Given the description of an element on the screen output the (x, y) to click on. 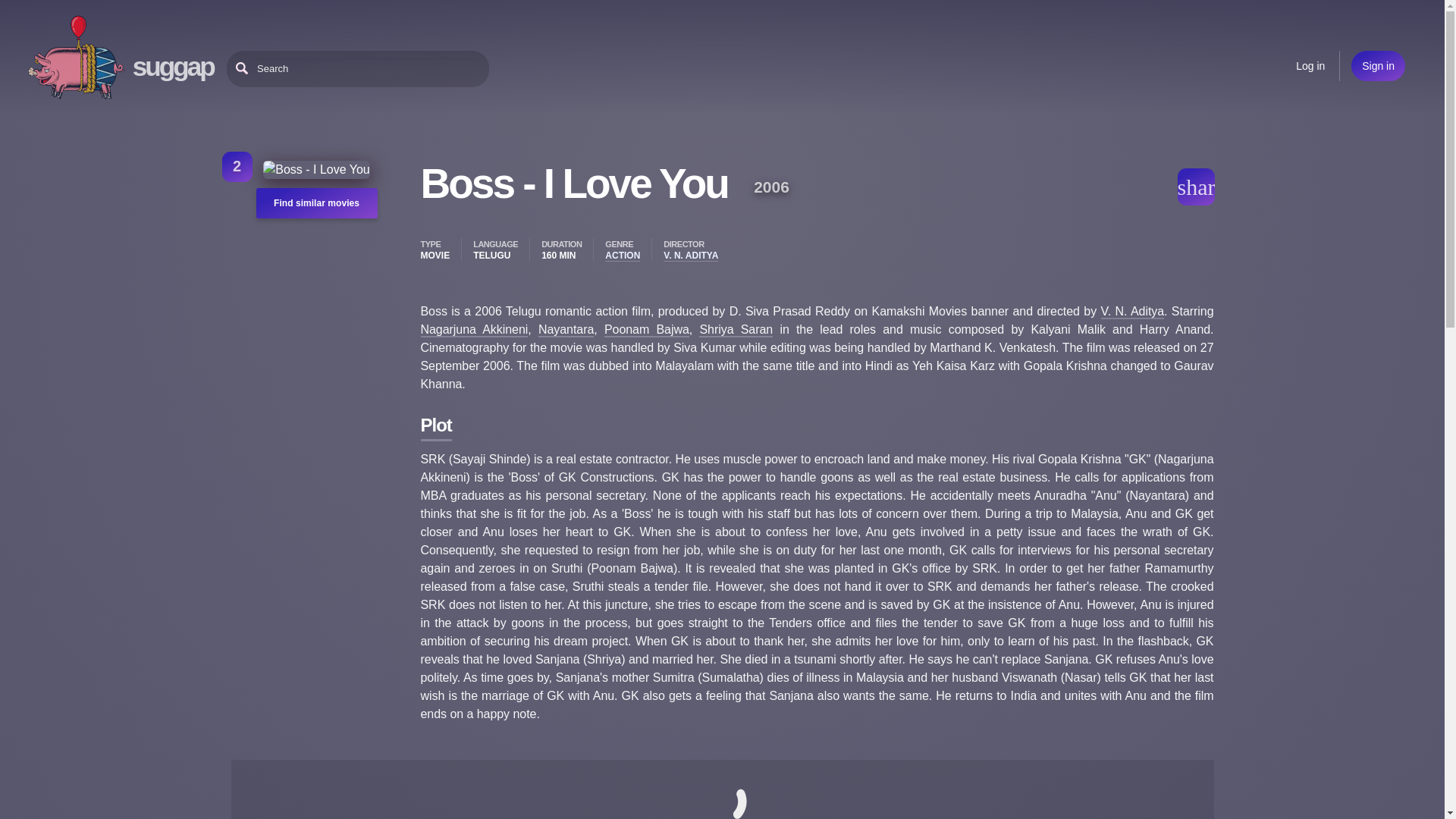
Nayantara (566, 329)
Score (236, 166)
Nagarjuna Akkineni (473, 329)
suggap (173, 66)
Log in (1309, 65)
Poonam Bajwa (646, 329)
Share (1195, 186)
V. N. Aditya (1132, 311)
Find similar movies (316, 203)
V. N. ADITYA (690, 255)
